Given the description of an element on the screen output the (x, y) to click on. 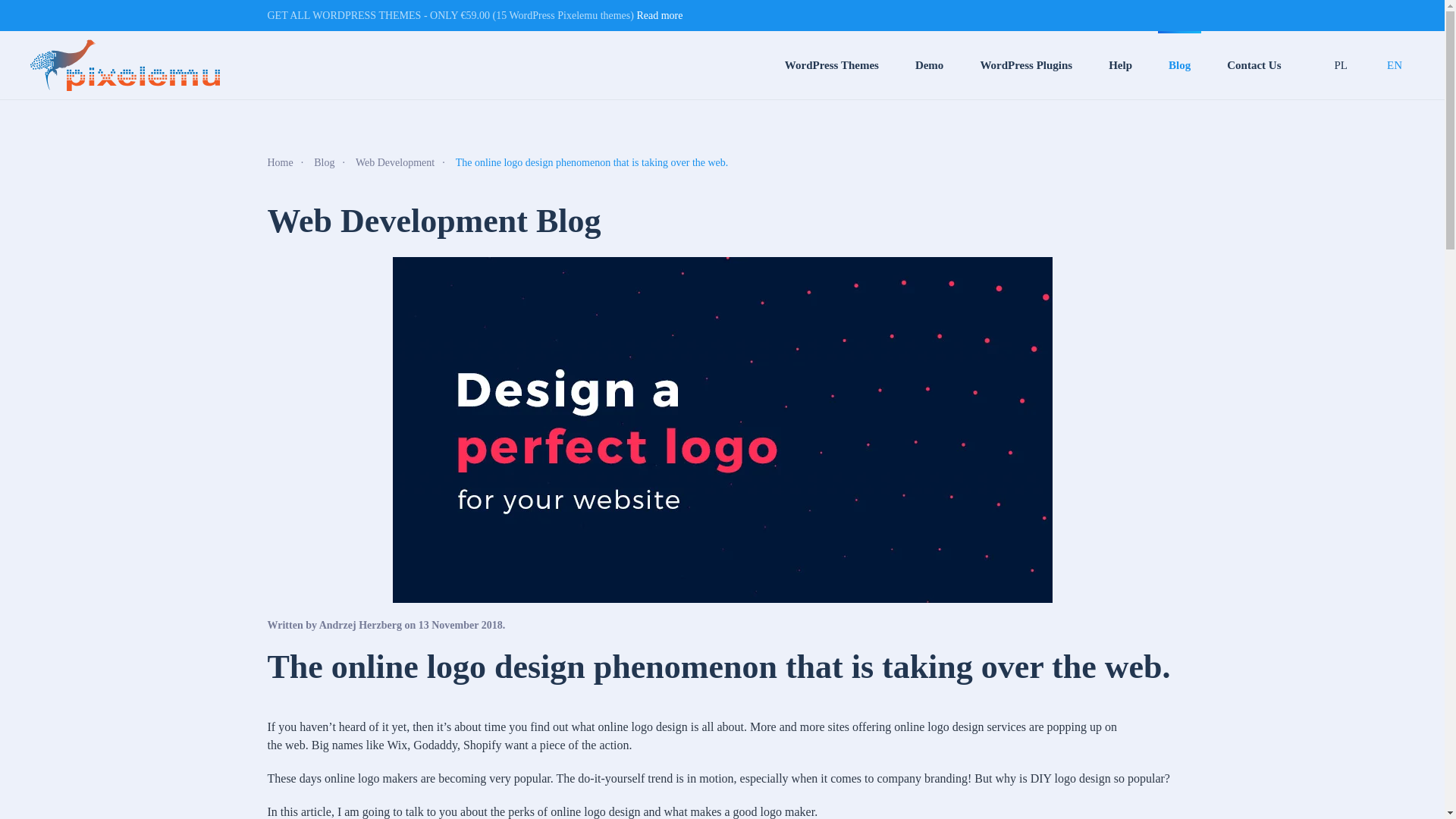
Home (279, 162)
EN (1393, 65)
Blog (324, 162)
Read more (659, 15)
Contact Us (1253, 65)
WordPress Themes (831, 65)
WordPress Plugins (1026, 65)
Web Development (394, 162)
